Given the description of an element on the screen output the (x, y) to click on. 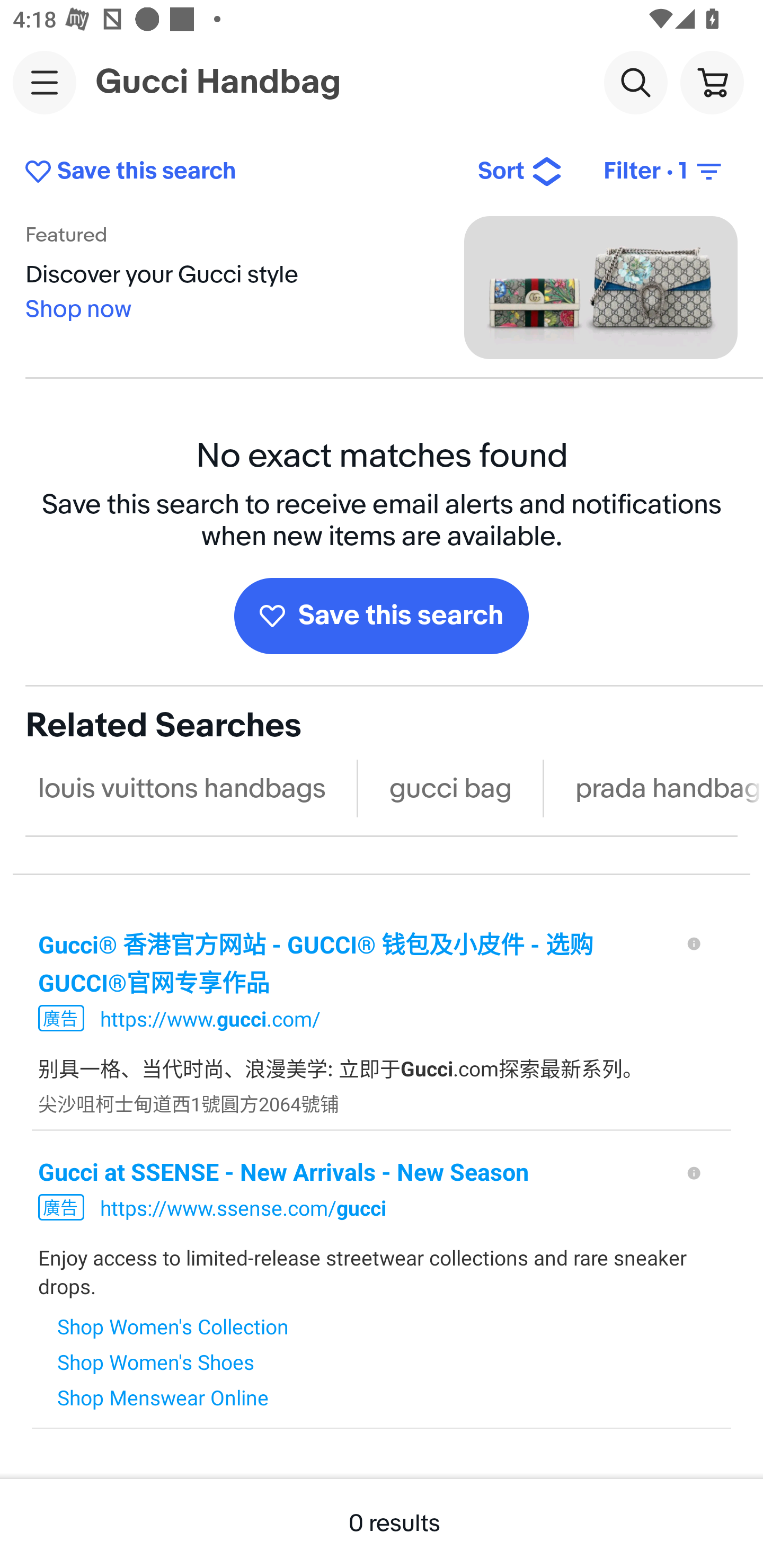
Main navigation, open (44, 82)
Search (635, 81)
Cart button shopping cart (711, 81)
Save this search (237, 171)
Sort (520, 171)
Filter • 1 Filter (1 applied) (663, 171)
Featured Discover your Gucci style Shop now (381, 287)
Save this search (381, 615)
louis vuittons handbags (181, 787)
gucci bag (450, 787)
prada handbag (663, 787)
Gucci® 香港官方网站 - GUCCI® 钱包及小皮件 - 选购 GUCCI®官网专享作品 (353, 961)
https://www.gucci.com/ (210, 1018)
Gucci at SSENSE - New Arrivals - New Season (353, 1171)
https://www.ssense.com/gucci (242, 1207)
Shop Women's Collection (172, 1325)
Shop Women's Shoes (172, 1361)
Shop Menswear Online (172, 1396)
